Given the description of an element on the screen output the (x, y) to click on. 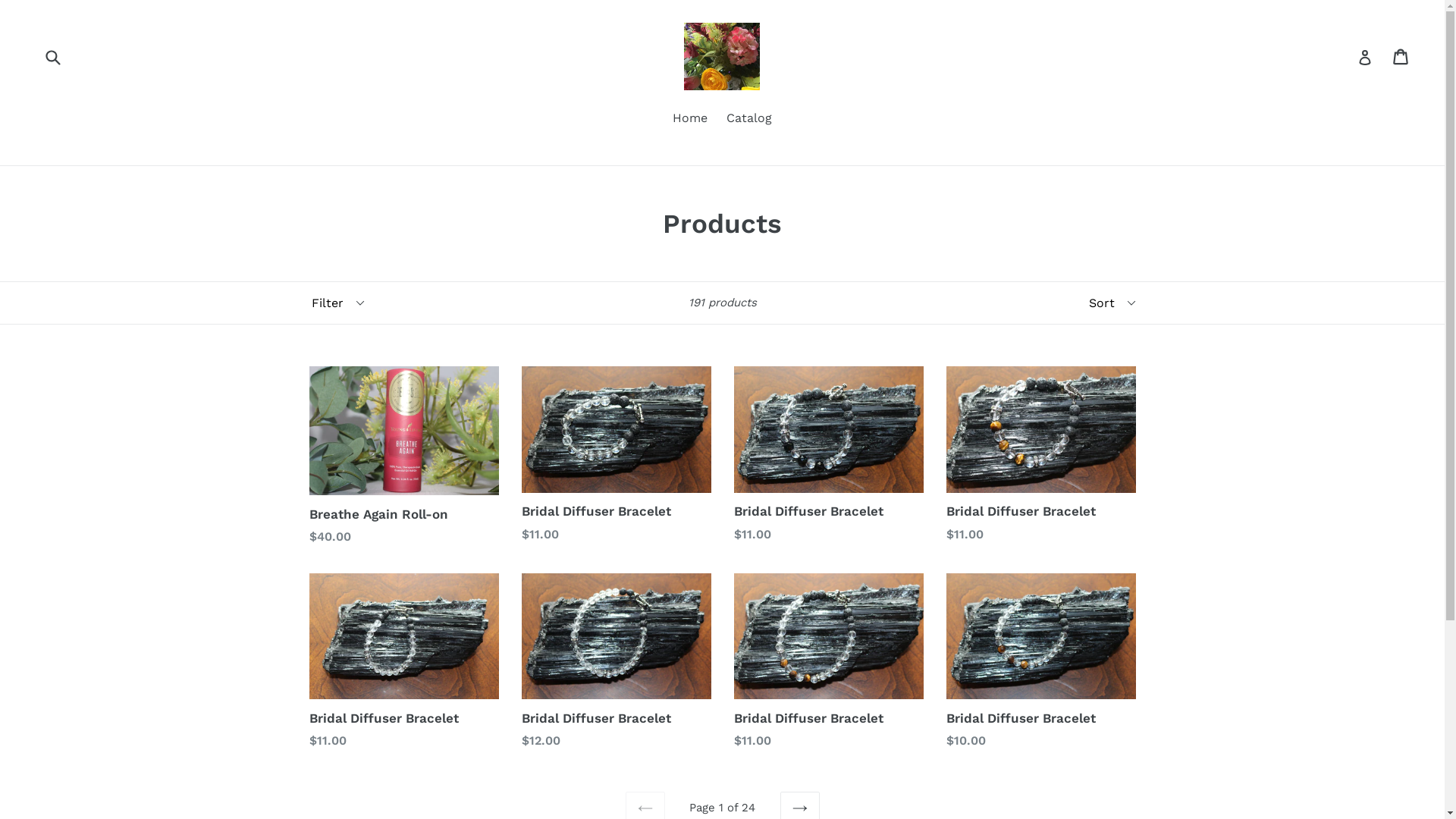
Log in Element type: text (1364, 56)
Catalog Element type: text (748, 119)
Bridal Diffuser Bracelet
Regular price
$11.00 Element type: text (616, 454)
Breathe Again Roll-on
Regular price
$40.00 Element type: text (403, 456)
Bridal Diffuser Bracelet
Regular price
$11.00 Element type: text (828, 454)
Cart
Cart Element type: text (1401, 56)
Bridal Diffuser Bracelet
Regular price
$11.00 Element type: text (828, 661)
Bridal Diffuser Bracelet
Regular price
$11.00 Element type: text (1040, 454)
Bridal Diffuser Bracelet
Regular price
$12.00 Element type: text (616, 661)
Bridal Diffuser Bracelet
Regular price
$11.00 Element type: text (403, 661)
Home Element type: text (690, 119)
Submit Element type: text (51, 56)
Bridal Diffuser Bracelet
Regular price
$10.00 Element type: text (1040, 661)
